Given the description of an element on the screen output the (x, y) to click on. 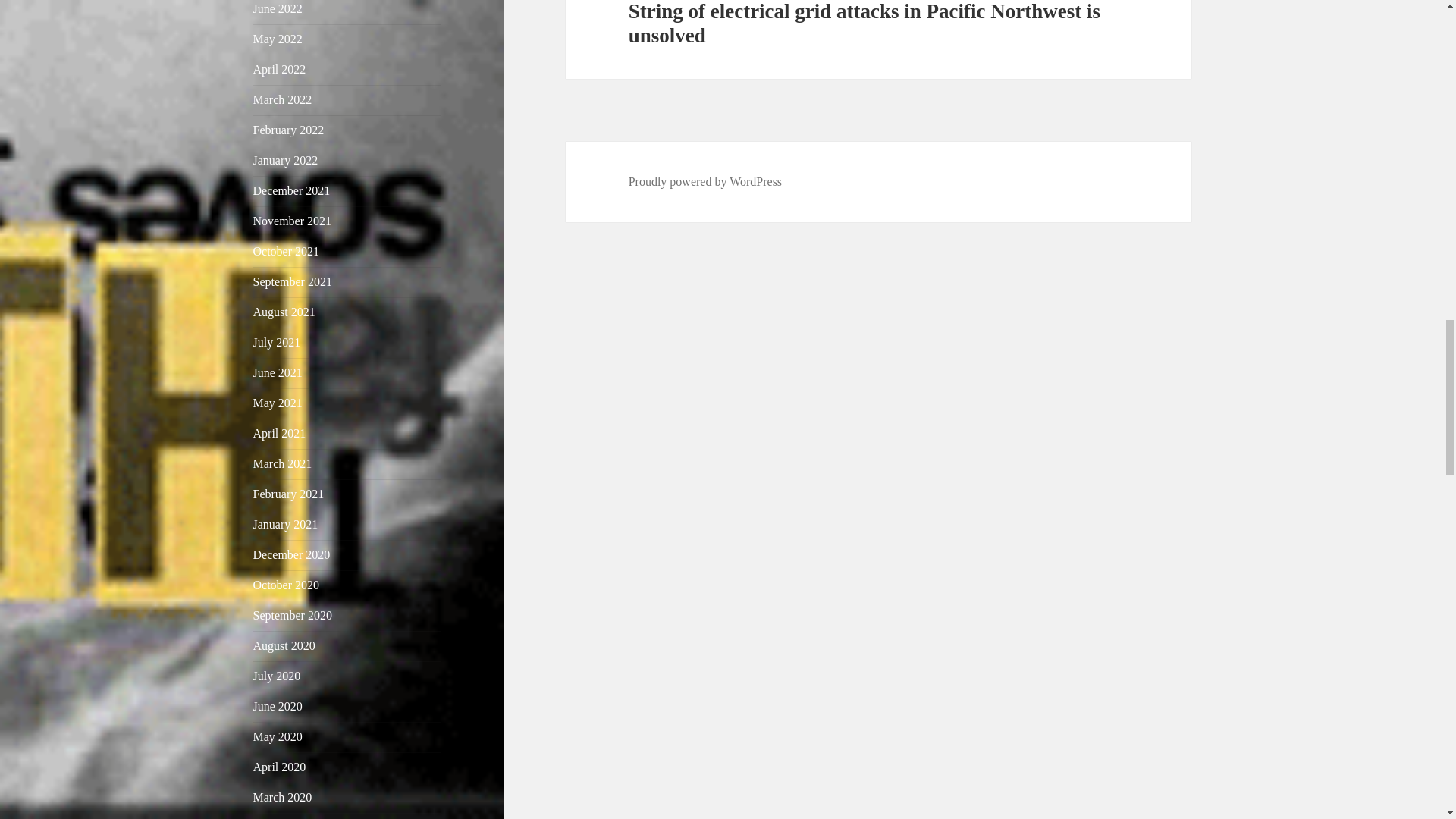
March 2022 (283, 99)
June 2022 (277, 8)
April 2022 (279, 69)
May 2022 (277, 38)
February 2022 (288, 129)
